Given the description of an element on the screen output the (x, y) to click on. 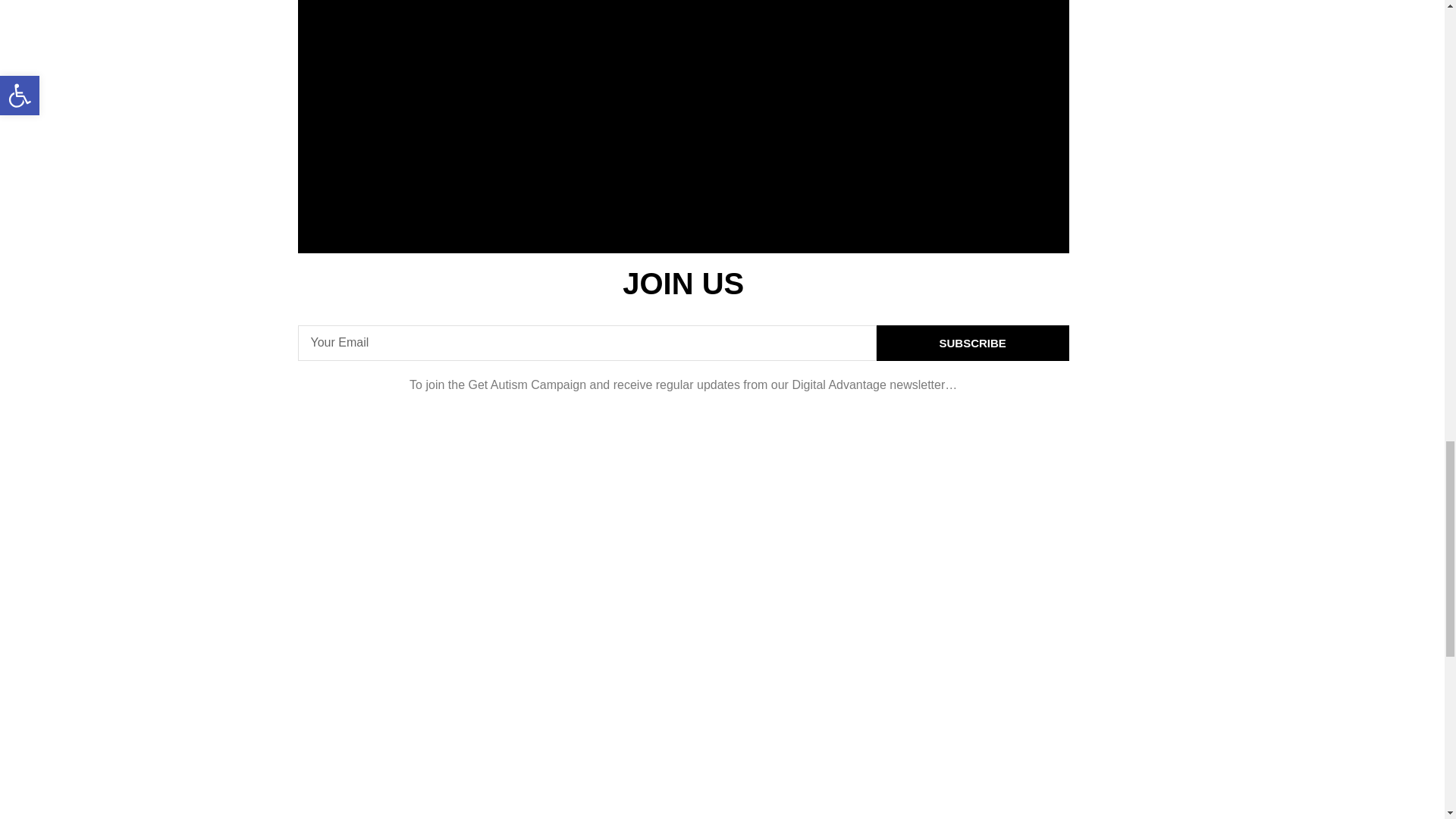
SUBSCRIBE (972, 343)
